Given the description of an element on the screen output the (x, y) to click on. 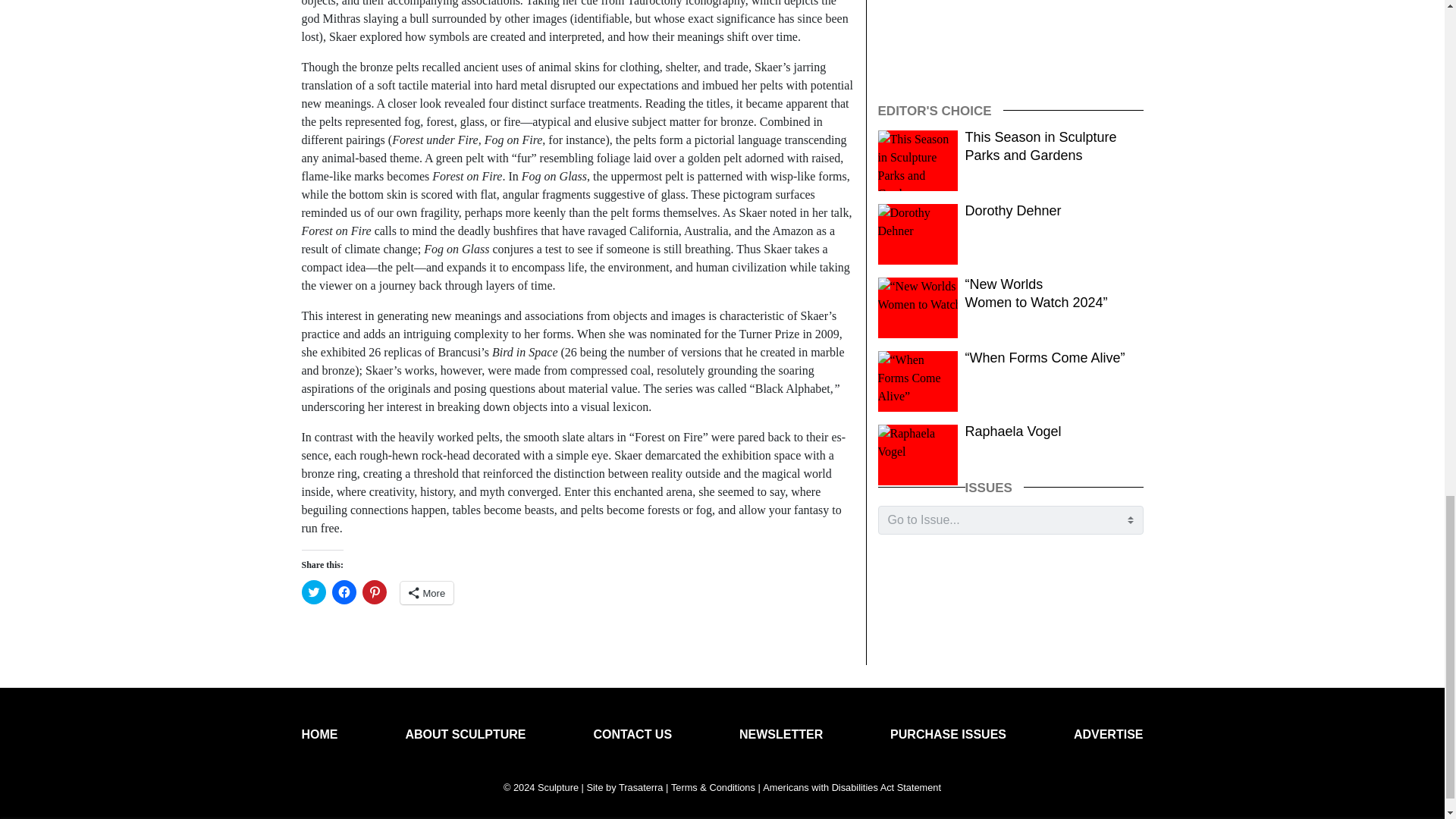
Click to share on Twitter (313, 591)
This Season in Sculpture Parks and Gardens (1040, 145)
More (427, 592)
Click to share on Pinterest (374, 591)
Dorothy Dehner (1013, 210)
Click to share on Facebook (343, 591)
